Given the description of an element on the screen output the (x, y) to click on. 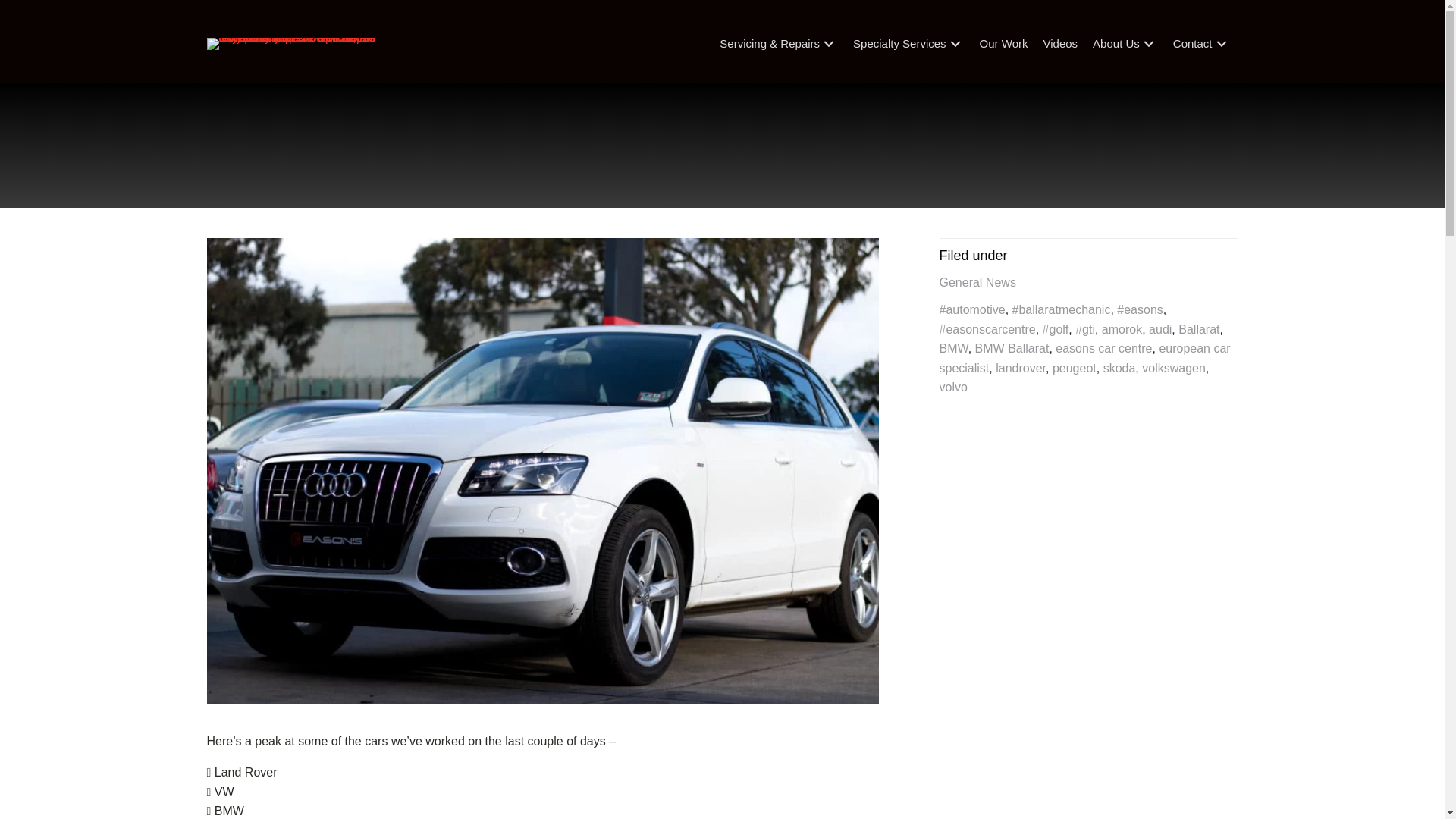
About Us Element type: text (1125, 43)
#gti Element type: text (1085, 329)
audi Element type: text (1159, 329)
#golf Element type: text (1055, 329)
Servicing & Repairs Element type: text (778, 43)
BMW Ballarat Element type: text (1012, 348)
easons car centre Element type: text (1103, 348)
skoda Element type: text (1119, 367)
#easonscarcentre Element type: text (986, 329)
Contact Element type: text (1201, 43)
european car specialist Element type: text (1084, 358)
#automotive Element type: text (971, 309)
landrover Element type: text (1020, 367)
Eason's Car Centre Ballarat Element type: hover (297, 43)
Specialty Services Element type: text (908, 43)
#easons Element type: text (1140, 309)
Videos Element type: text (1060, 43)
volkswagen Element type: text (1173, 367)
IMG_2153 Element type: hover (542, 470)
Ballarat Element type: text (1198, 329)
BMW Element type: text (952, 348)
amorok Element type: text (1121, 329)
peugeot Element type: text (1074, 367)
General News Element type: text (976, 282)
Our Work Element type: text (1003, 43)
volvo Element type: text (952, 386)
#ballaratmechanic Element type: text (1061, 309)
